Given the description of an element on the screen output the (x, y) to click on. 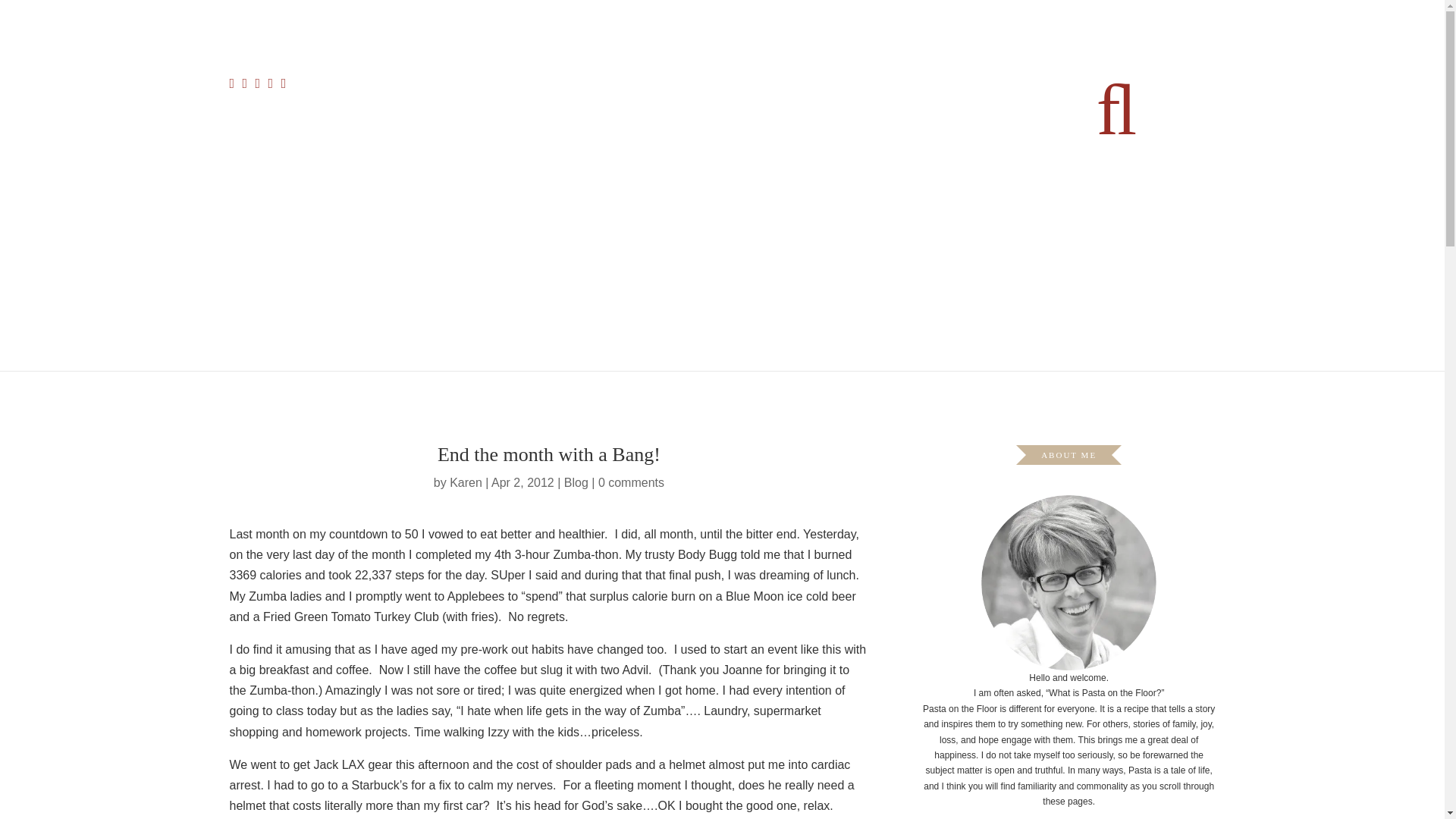
Food and Cooking (618, 78)
Blog (576, 481)
Say hello (924, 78)
Karen (465, 481)
Stories (777, 78)
Still Cooking (528, 78)
Posts by Karen (465, 481)
Get to know me (847, 78)
Cheese Heals (711, 78)
0 comments (630, 481)
